Given the description of an element on the screen output the (x, y) to click on. 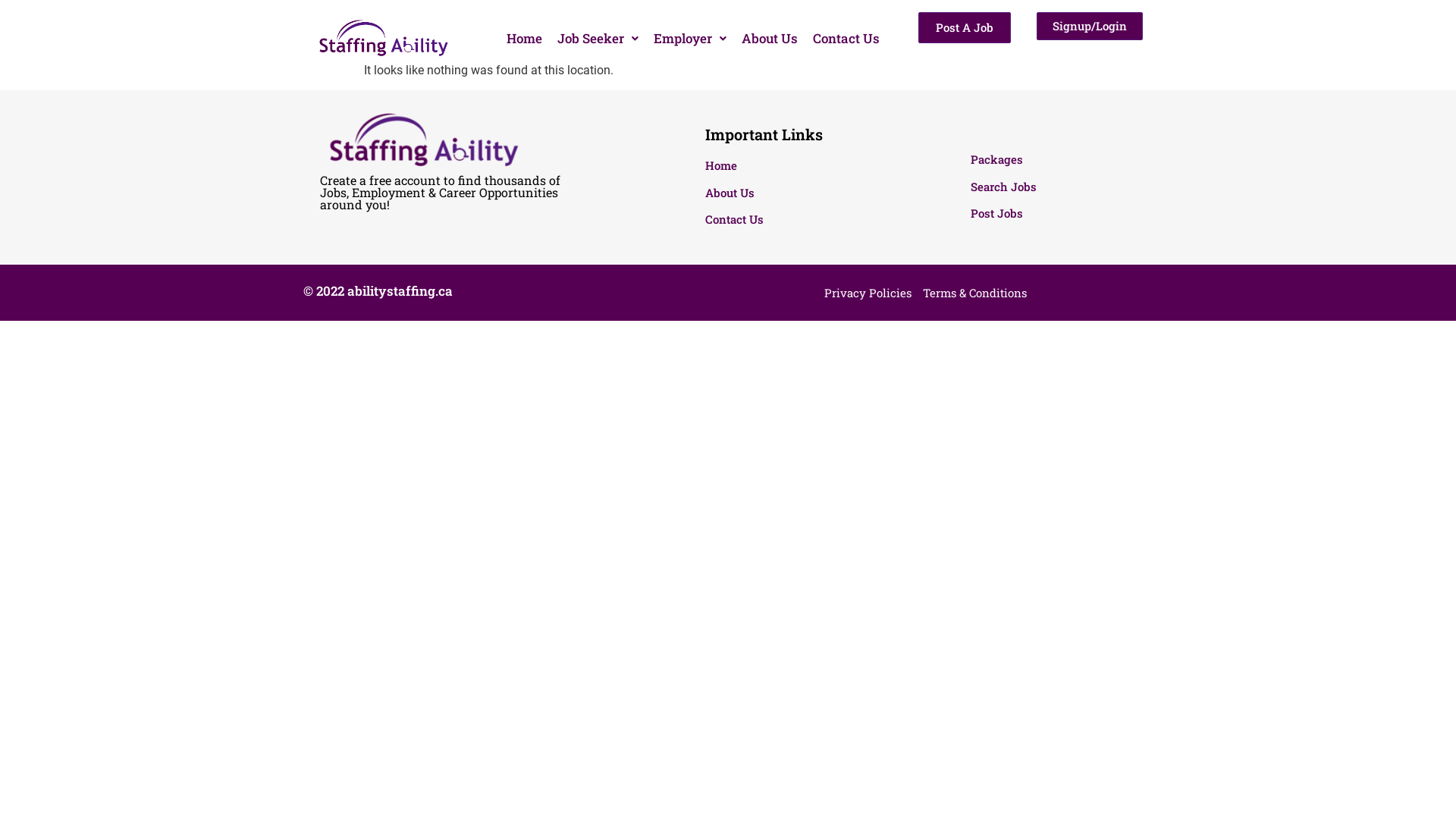
About Us Element type: text (801, 192)
Contact Us Element type: text (846, 38)
Signup/Login Element type: text (1089, 26)
Job Seeker Element type: text (597, 38)
Home Element type: text (523, 38)
Employer Element type: text (690, 38)
Home Element type: text (801, 165)
Packages Element type: text (1063, 159)
Post A Job Element type: text (964, 27)
Privacy Policies Element type: text (867, 292)
About Us Element type: text (769, 38)
Contact Us Element type: text (801, 219)
Post Jobs Element type: text (1063, 213)
Search Jobs Element type: text (1063, 186)
Terms & Conditions Element type: text (974, 292)
